Given the description of an element on the screen output the (x, y) to click on. 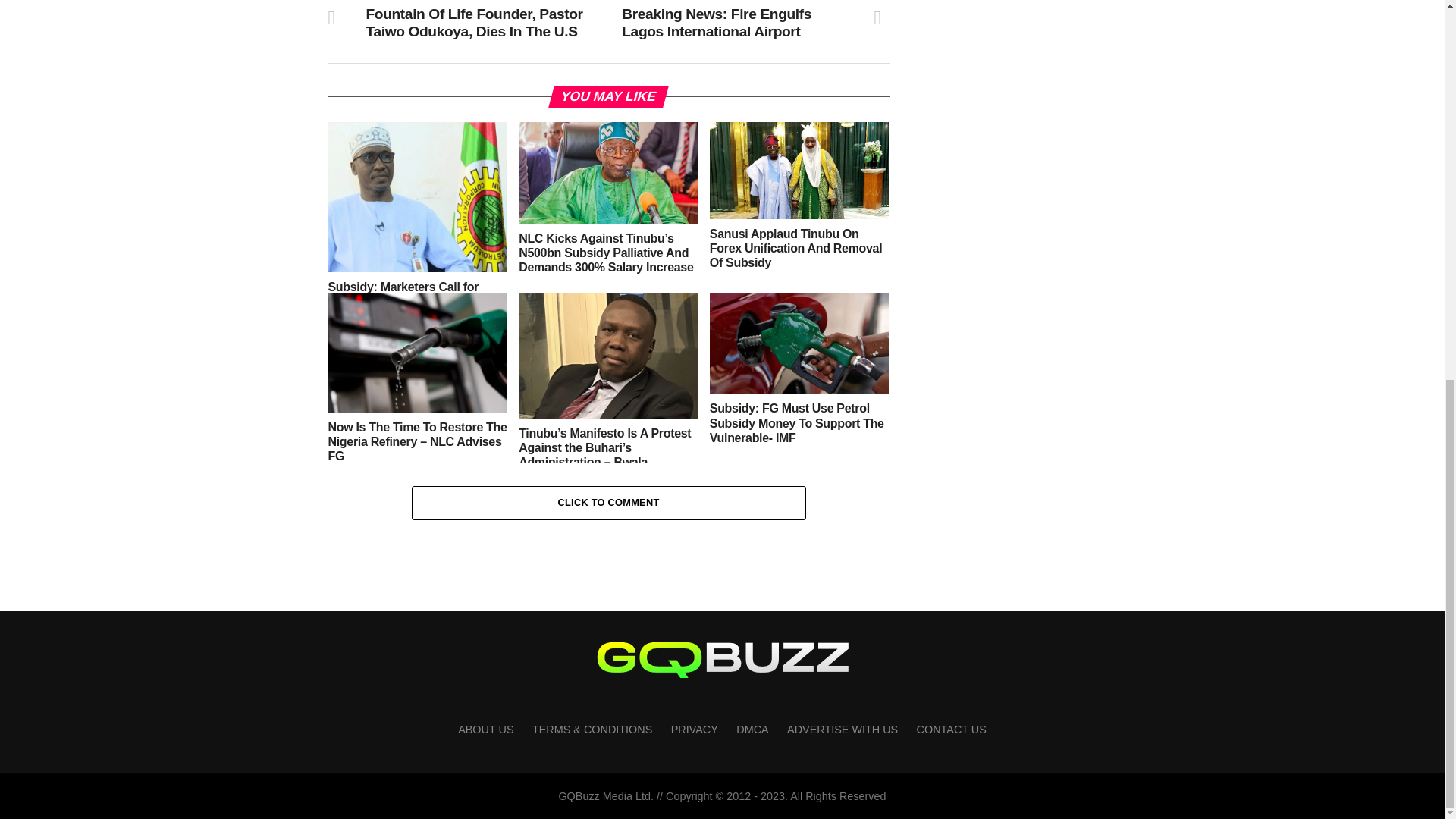
ABOUT US (485, 729)
DMCA (752, 729)
CONTACT US (952, 729)
PRIVACY (694, 729)
ADVERTISE WITH US (842, 729)
